Given the description of an element on the screen output the (x, y) to click on. 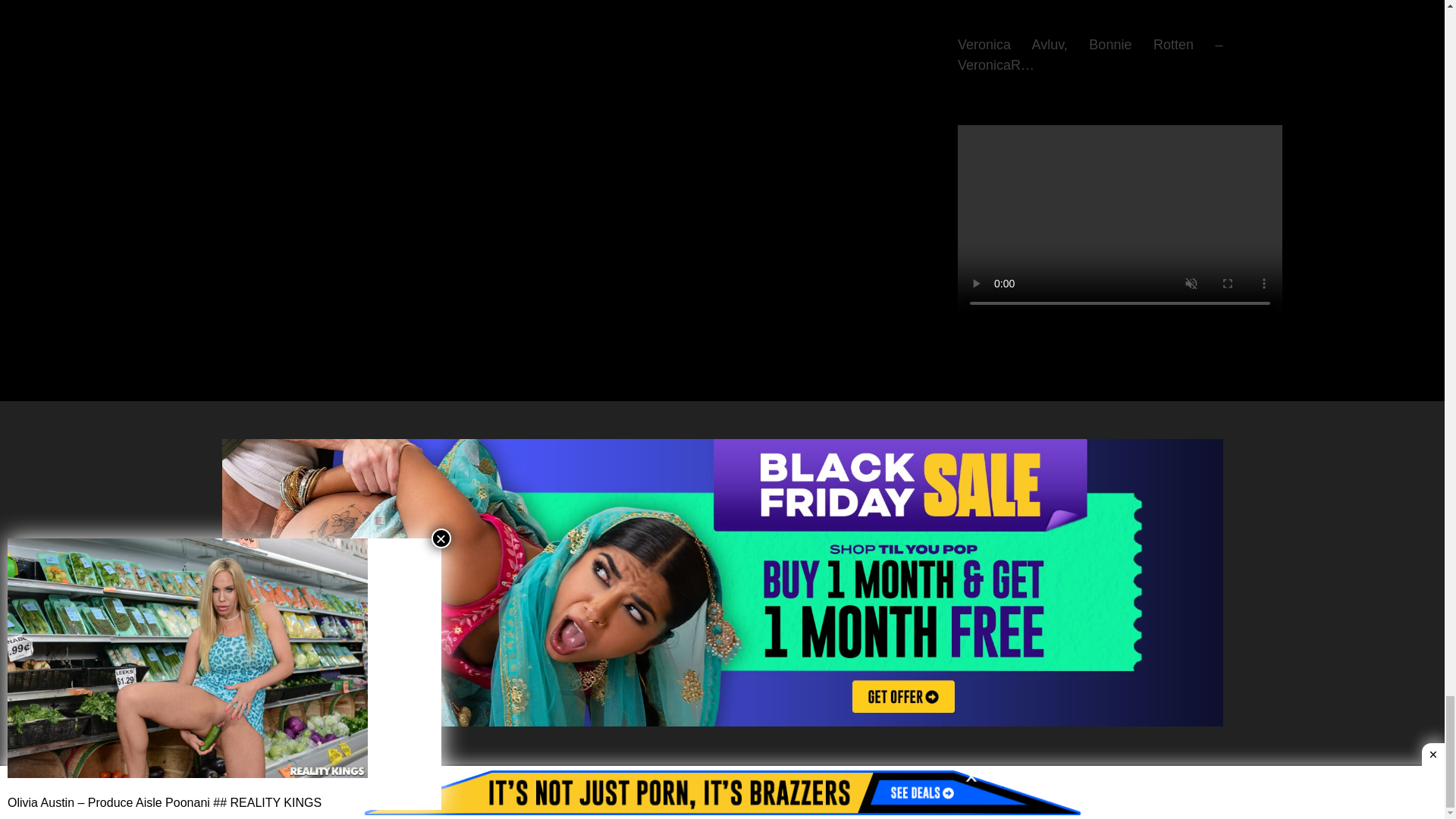
AVN PICS (346, 788)
